Given the description of an element on the screen output the (x, y) to click on. 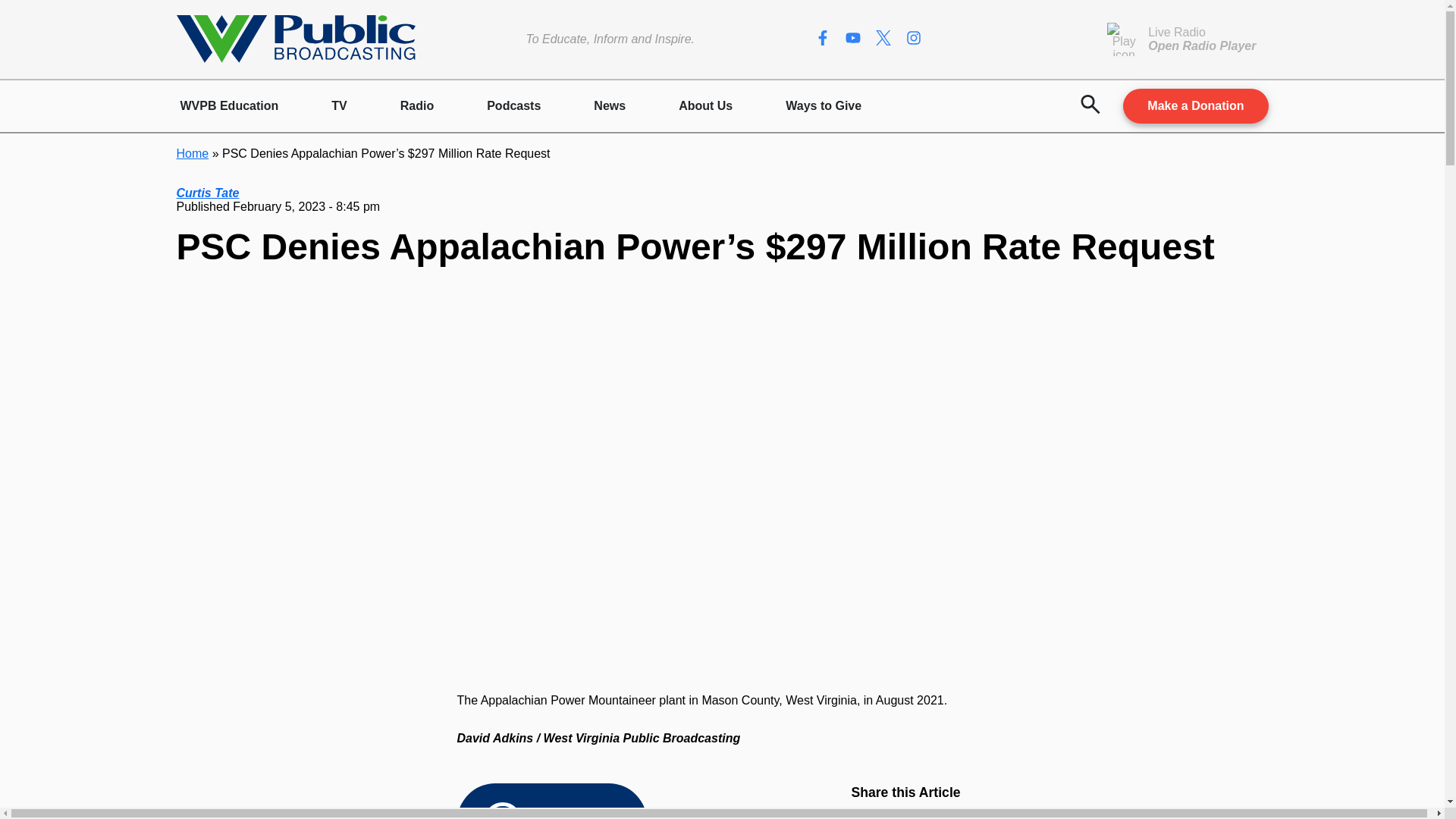
Share via Email! (979, 810)
Share on Pinterest! (918, 810)
Tweet this! (858, 810)
Share on Facebook! (888, 810)
Share on LinkedIn! (949, 810)
